Given the description of an element on the screen output the (x, y) to click on. 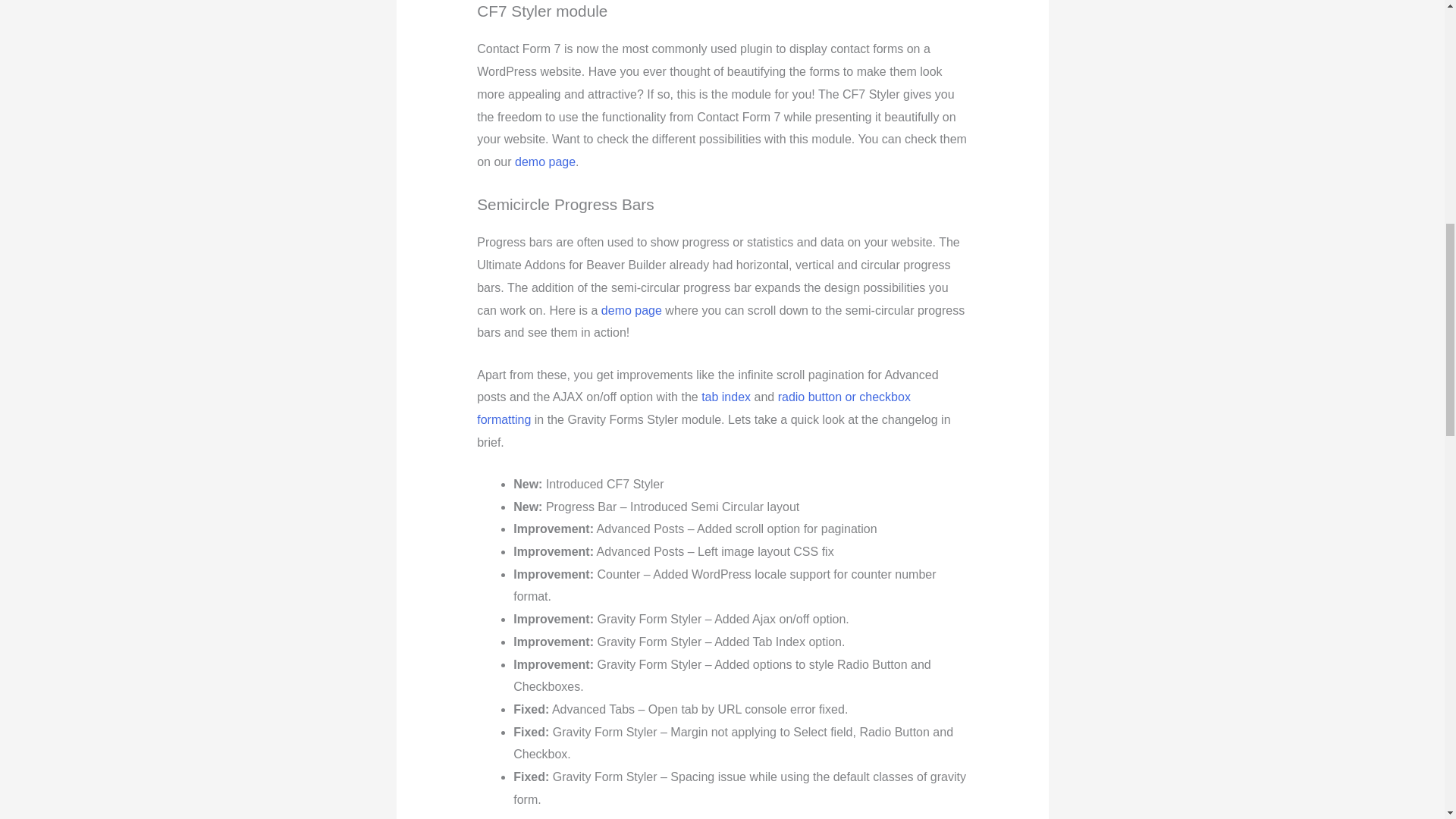
radio button or checkbox formatting (694, 407)
tab index (726, 396)
demo page (631, 309)
demo page (545, 161)
